Given the description of an element on the screen output the (x, y) to click on. 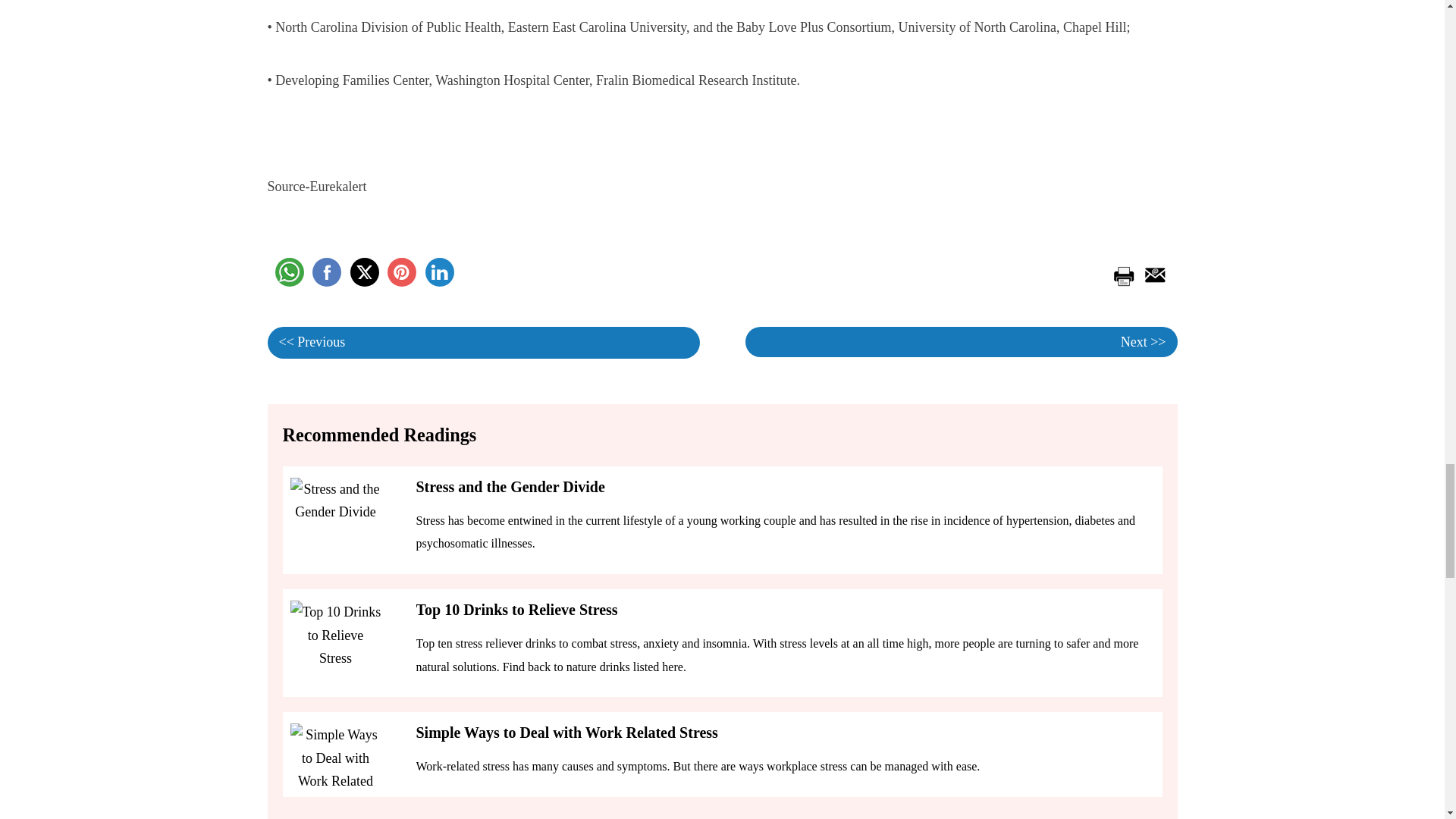
Twitter (364, 271)
Whatsapp (288, 271)
Print This Page (1121, 272)
Email This (1152, 272)
Linkedin (438, 271)
Whatsapp (288, 271)
Pinterest (401, 271)
